Given the description of an element on the screen output the (x, y) to click on. 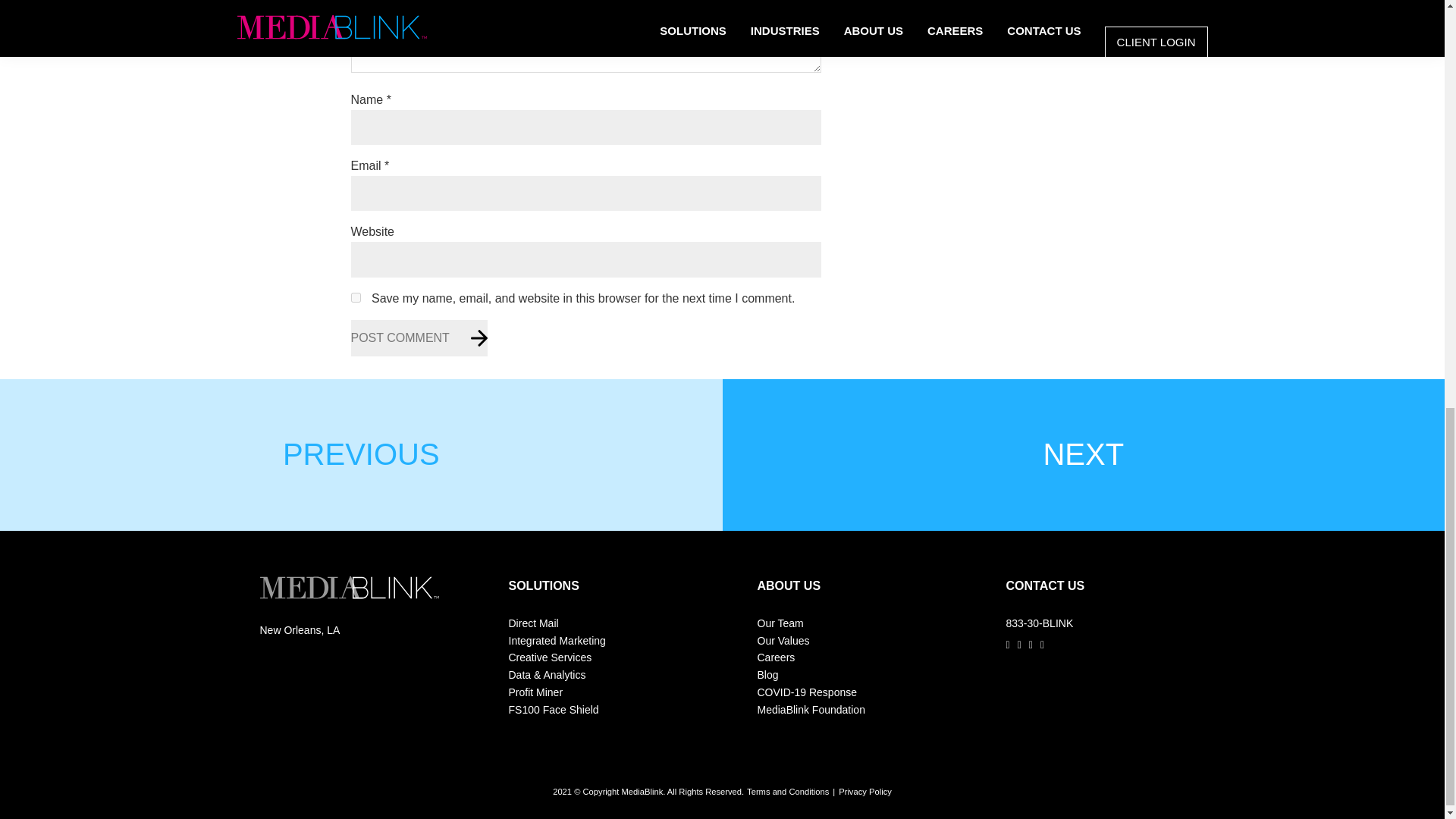
yes (354, 297)
Post Comment (418, 338)
